Given the description of an element on the screen output the (x, y) to click on. 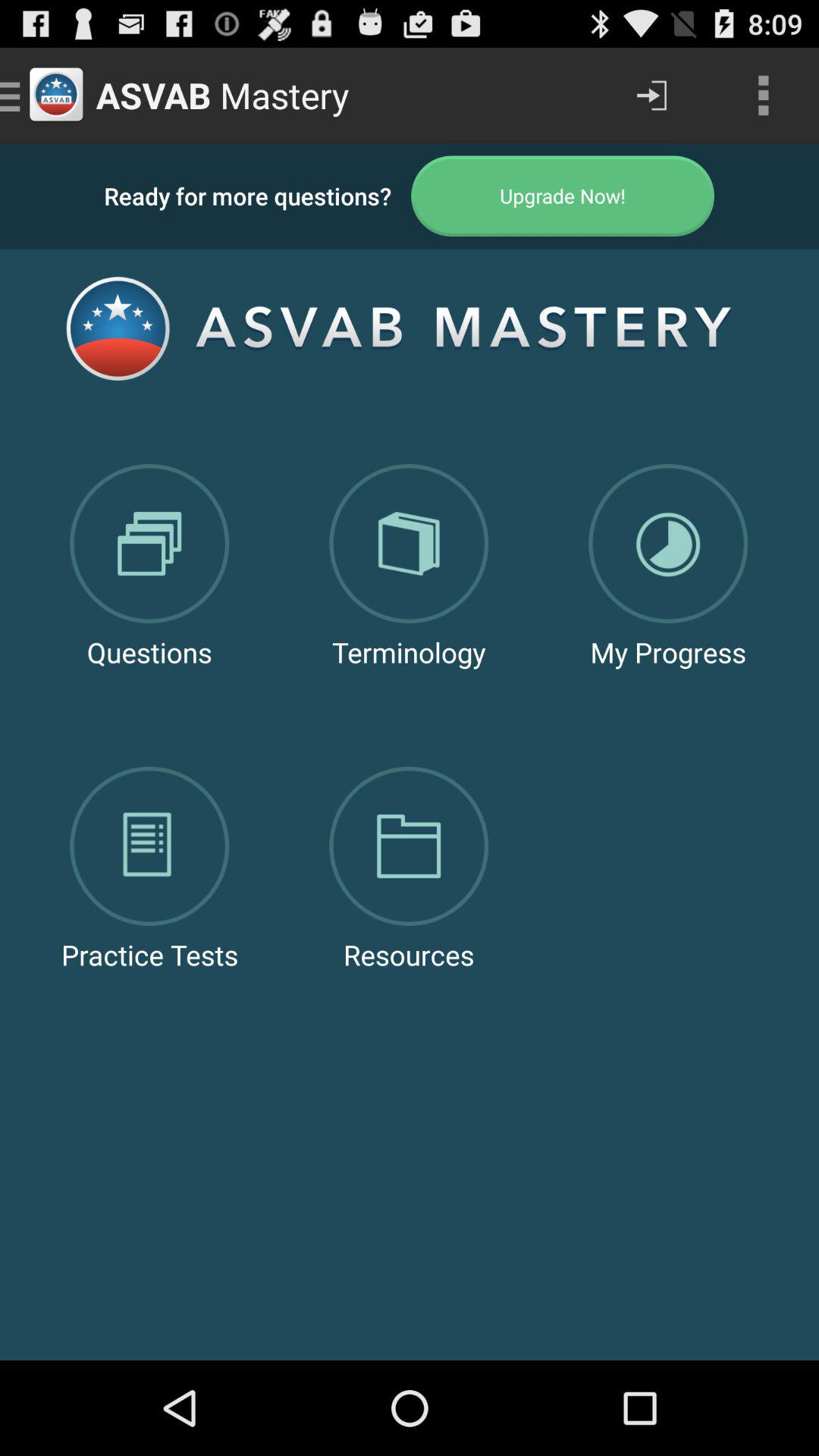
select app to the right of the ready for more icon (562, 195)
